Given the description of an element on the screen output the (x, y) to click on. 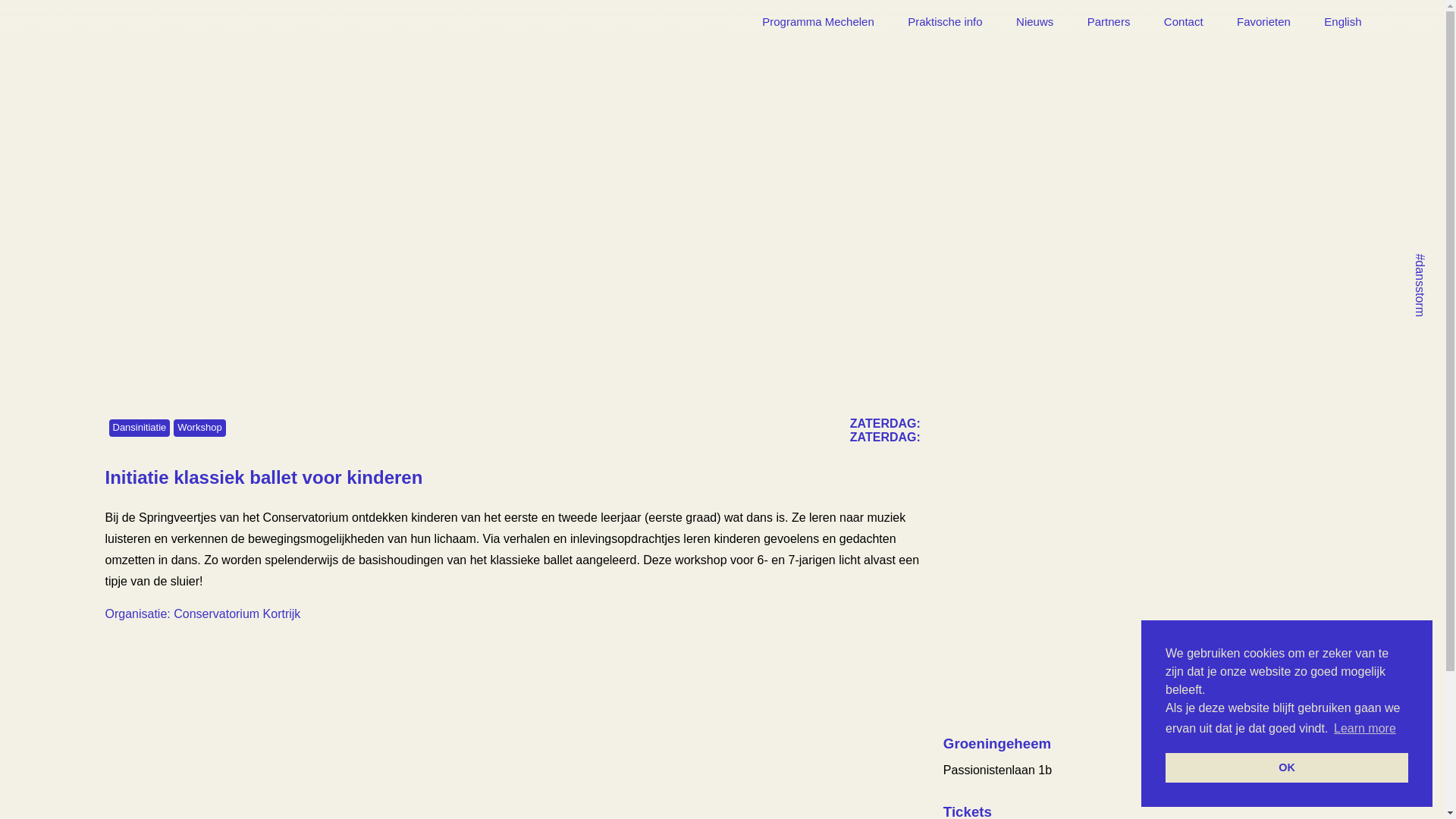
Nieuws Element type: text (1034, 21)
OK Element type: text (1286, 767)
Programma Mechelen Element type: text (818, 21)
Contact Element type: text (1183, 21)
Learn more Element type: text (1364, 728)
English Element type: text (1342, 21)
Partners Element type: text (1108, 21)
Praktische info Element type: text (944, 21)
Favorieten Element type: text (1263, 21)
